Given the description of an element on the screen output the (x, y) to click on. 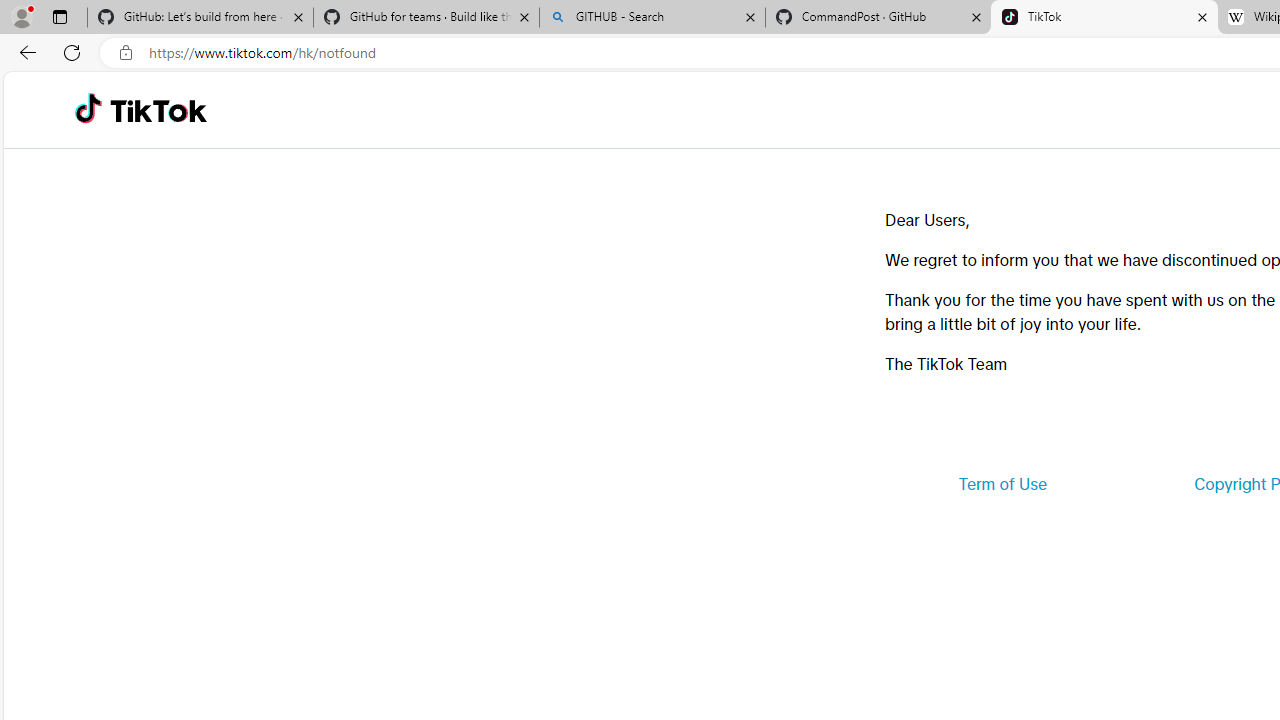
Term of Use (1002, 484)
TikTok (1104, 17)
TikTok (158, 110)
GITHUB - Search (652, 17)
